Given the description of an element on the screen output the (x, y) to click on. 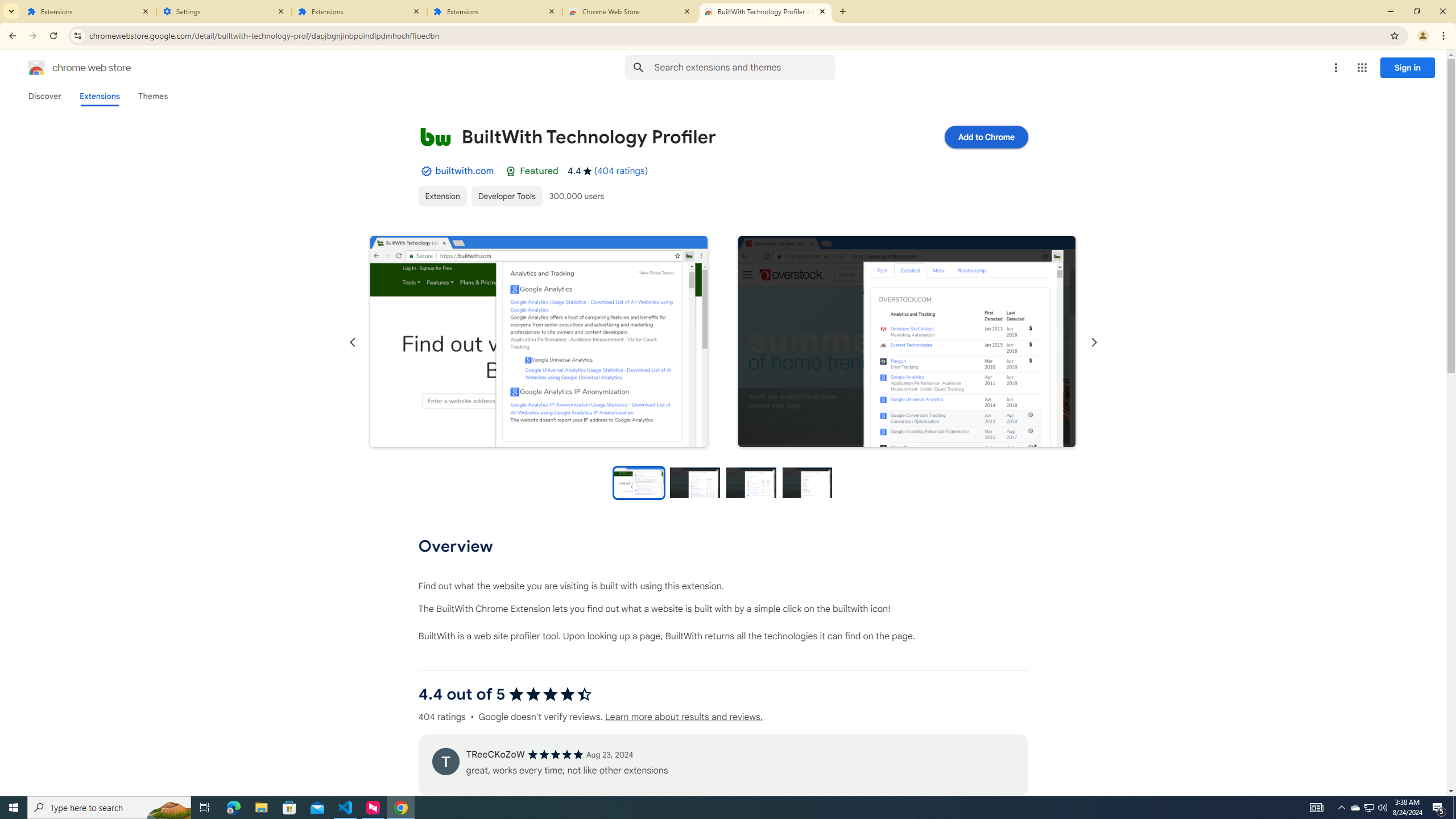
Add to Chrome (985, 136)
Previous slide (352, 342)
Extensions (88, 11)
More options menu (1335, 67)
By Established Publisher Badge (425, 170)
Item media 2 screenshot (906, 341)
Preview slide 3 (751, 482)
Item media 2 screenshot (906, 342)
Extensions (359, 11)
